Given the description of an element on the screen output the (x, y) to click on. 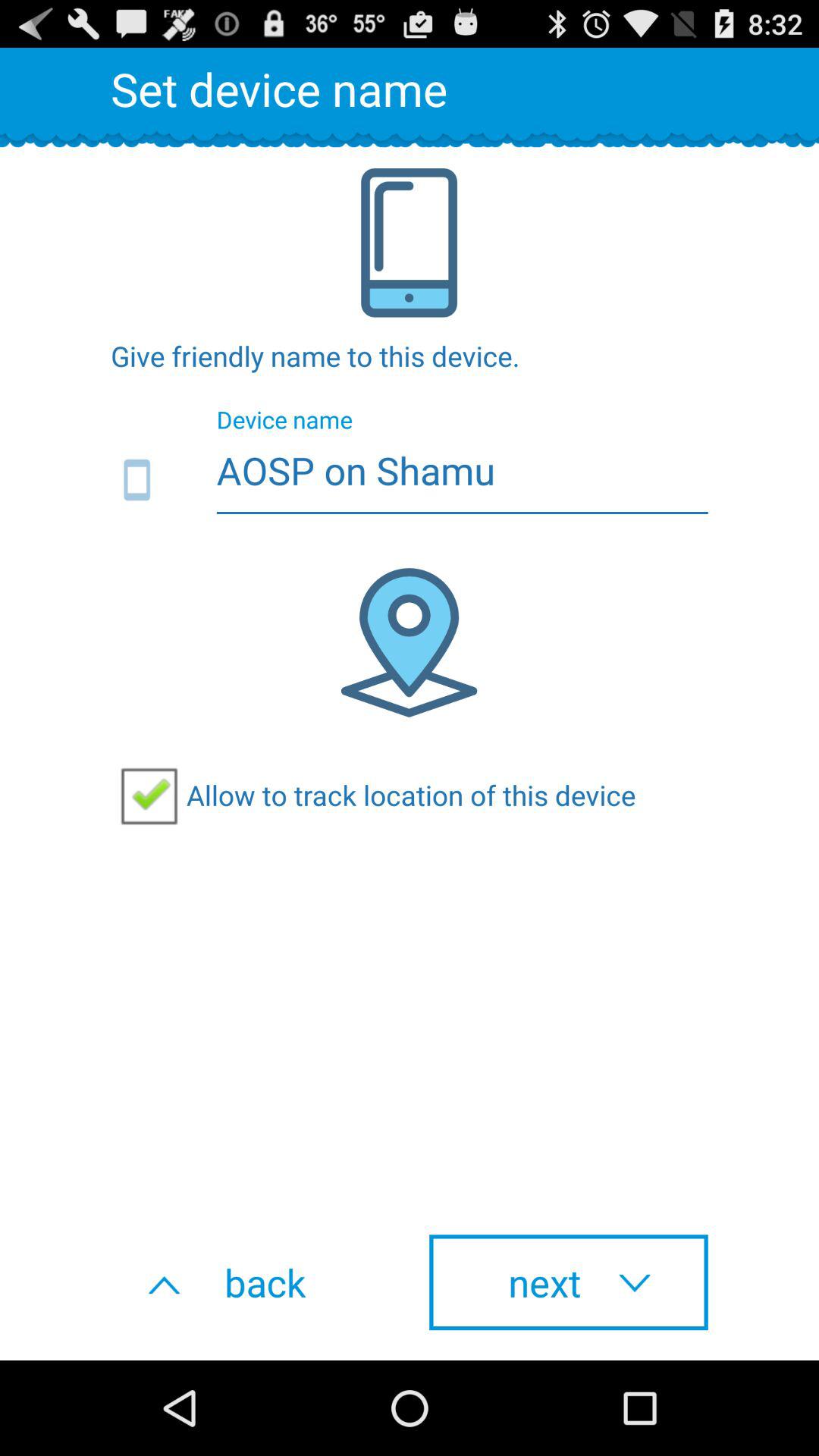
turn off the icon below the allow to track icon (249, 1282)
